Given the description of an element on the screen output the (x, y) to click on. 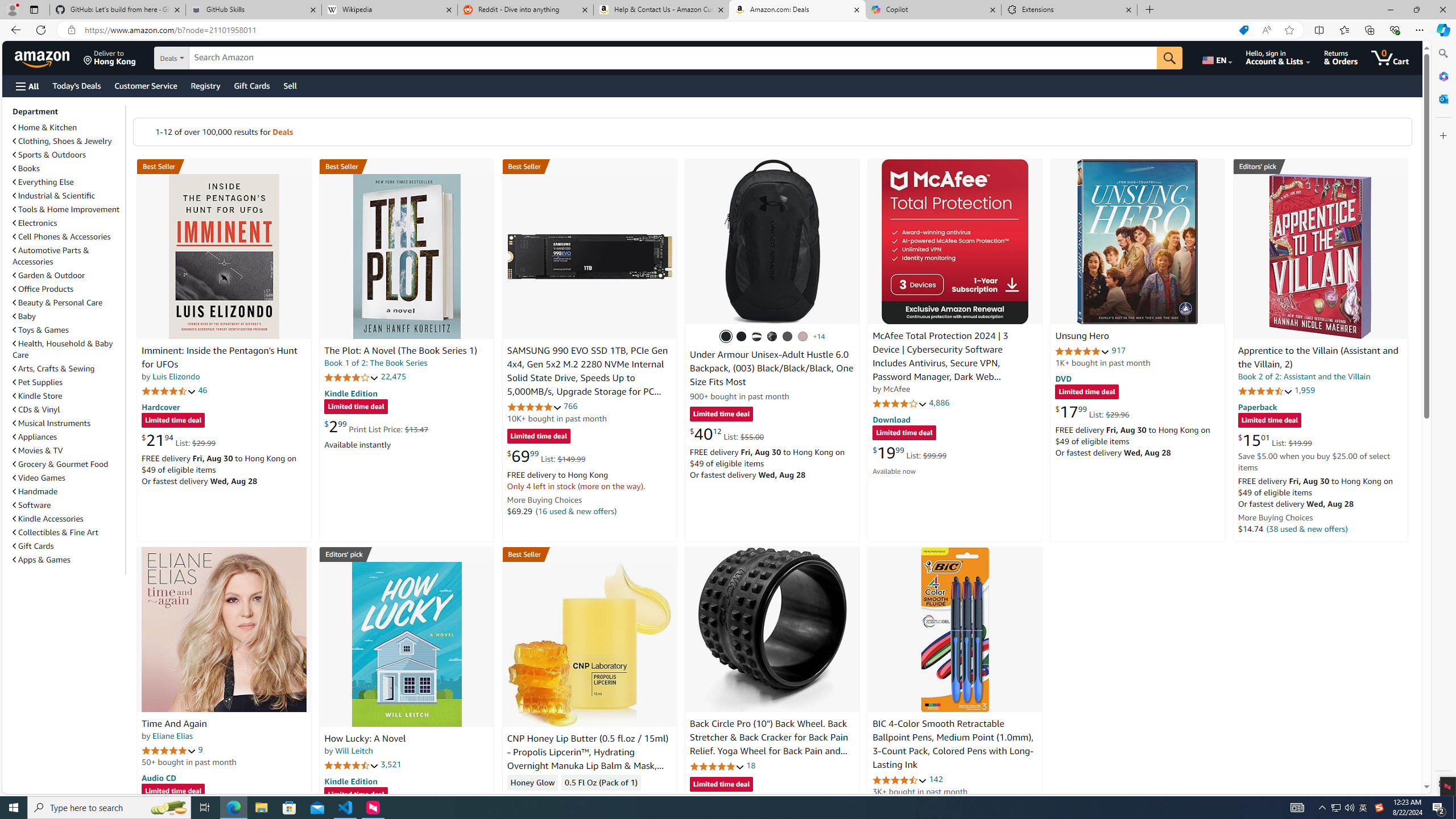
4.7 out of 5 stars (168, 390)
Reddit - Dive into anything (525, 9)
Will Leitch (353, 750)
Clothing, Shoes & Jewelry (67, 140)
Everything Else (67, 181)
Video Games (67, 477)
Electronics (34, 222)
Beauty & Personal Care (58, 302)
Sell (290, 85)
Go (1169, 57)
4.6 out of 5 stars (899, 779)
Choose a language for shopping. (1216, 57)
